Given the description of an element on the screen output the (x, y) to click on. 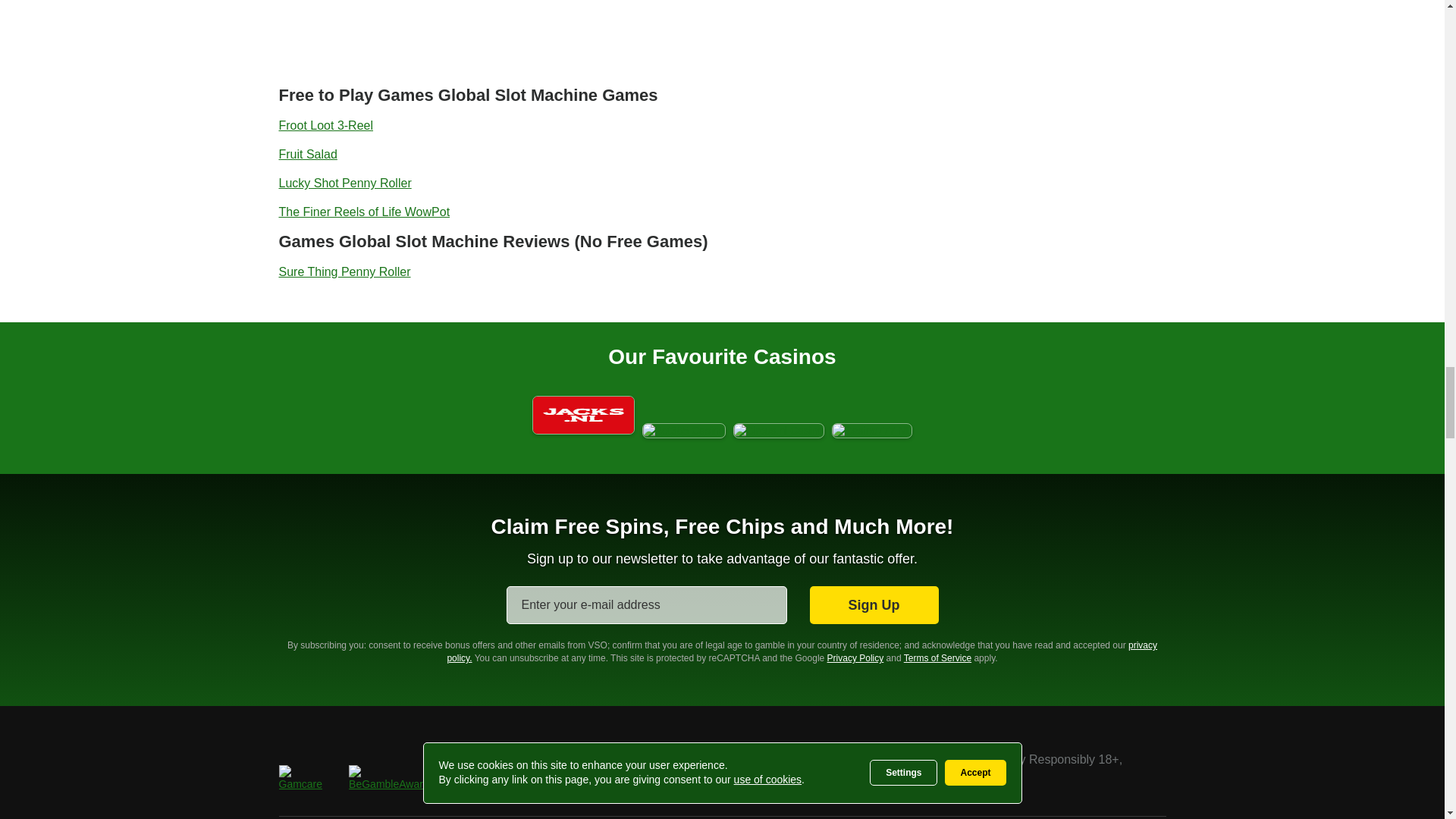
Sign Up (874, 605)
